Given the description of an element on the screen output the (x, y) to click on. 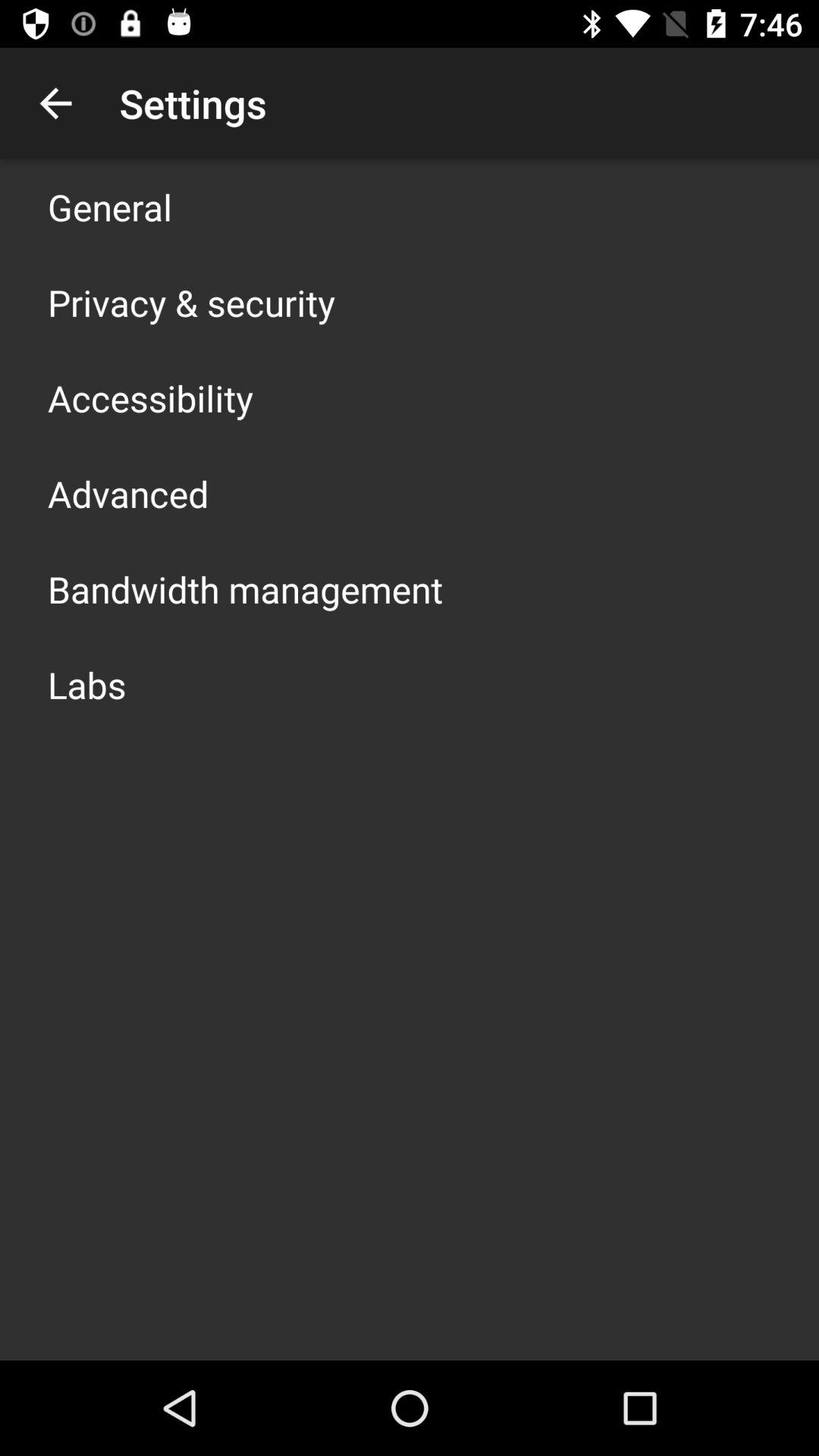
turn off privacy & security app (190, 302)
